Given the description of an element on the screen output the (x, y) to click on. 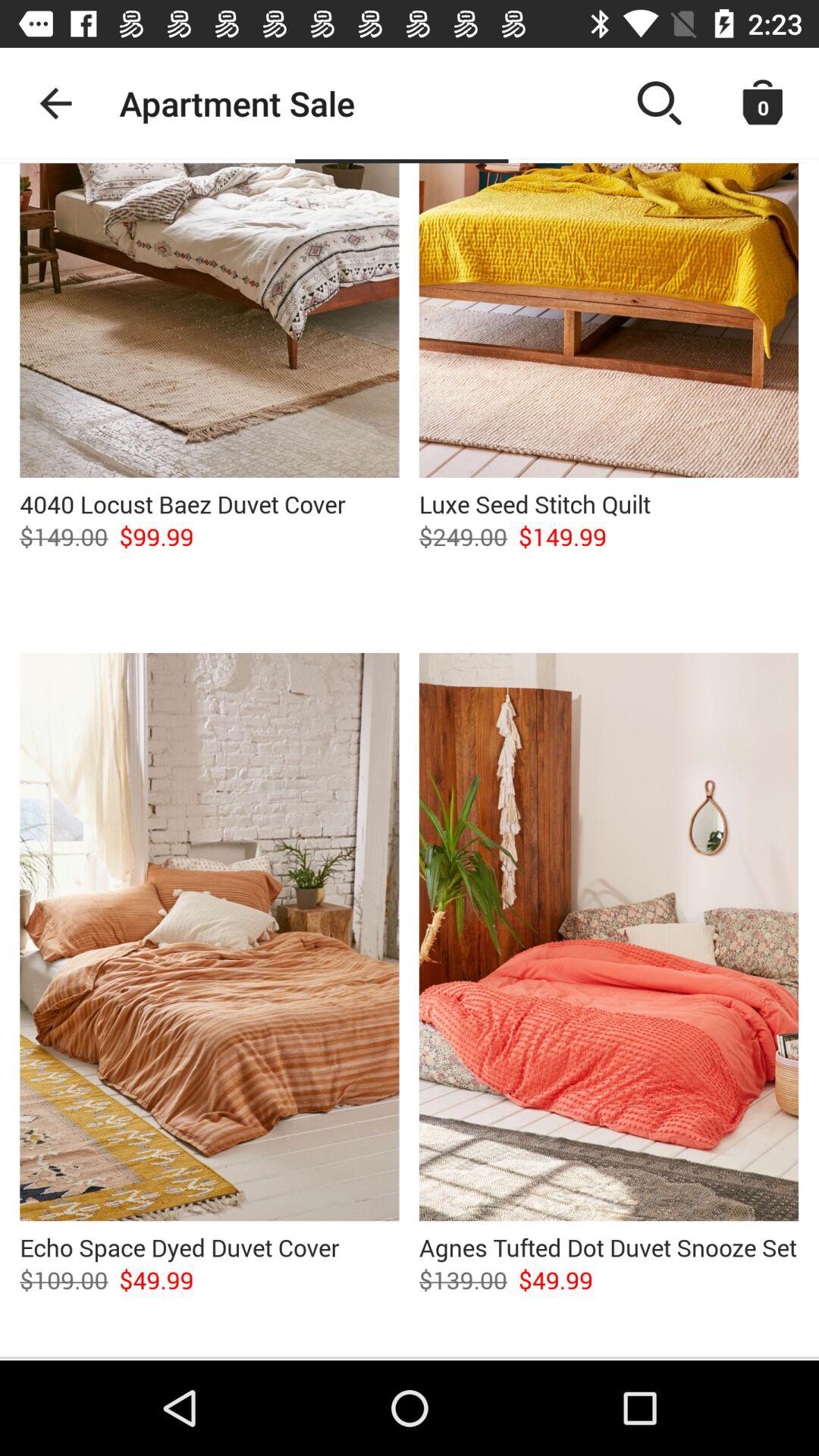
choose the app to the left of the apartment sale app (55, 103)
